Given the description of an element on the screen output the (x, y) to click on. 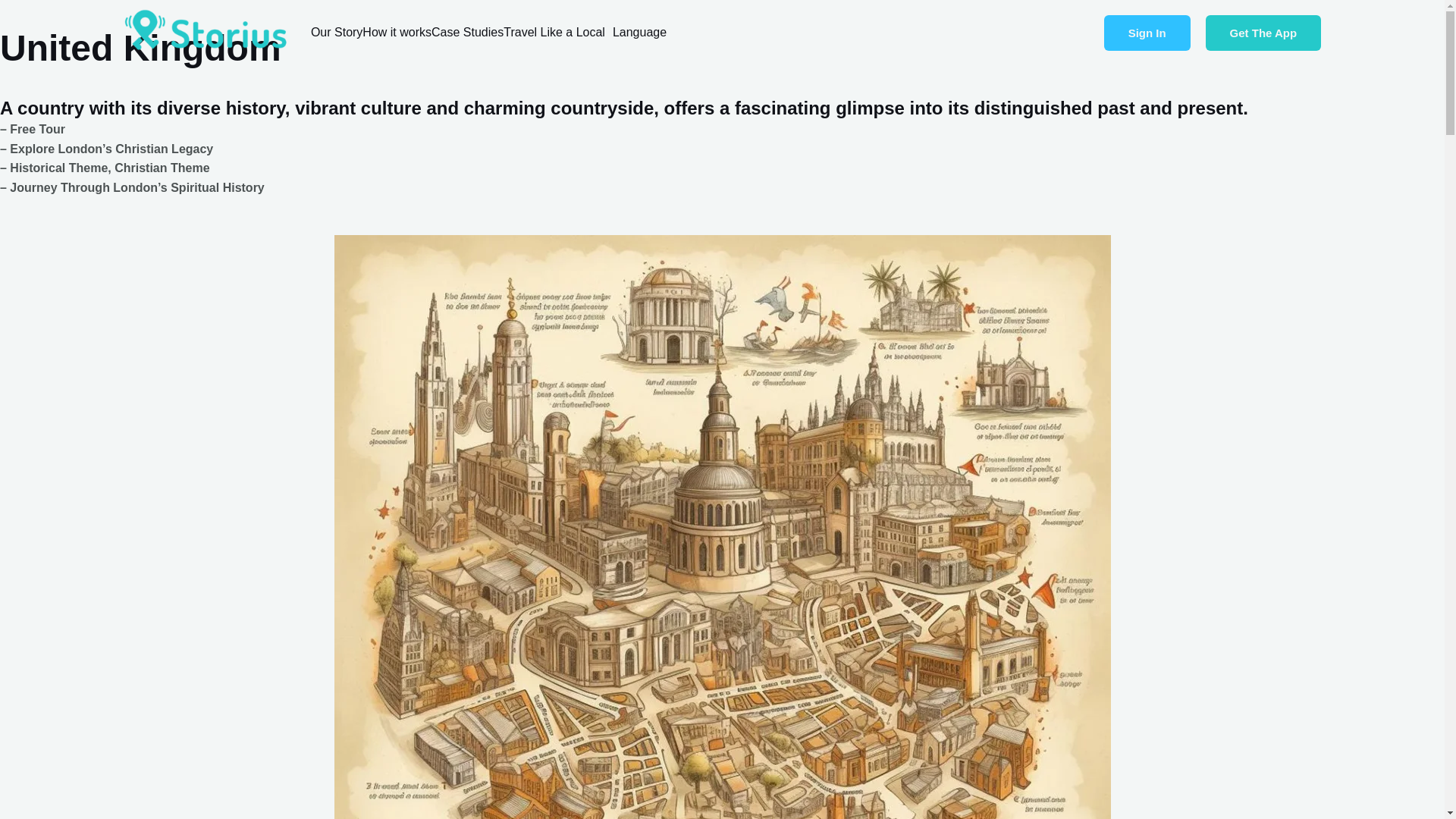
Case Studies (466, 32)
Sign In (1147, 32)
Travel Like a Local (557, 32)
Language (643, 32)
Our Story (336, 32)
How it works (396, 32)
Get The App (1263, 32)
